Given the description of an element on the screen output the (x, y) to click on. 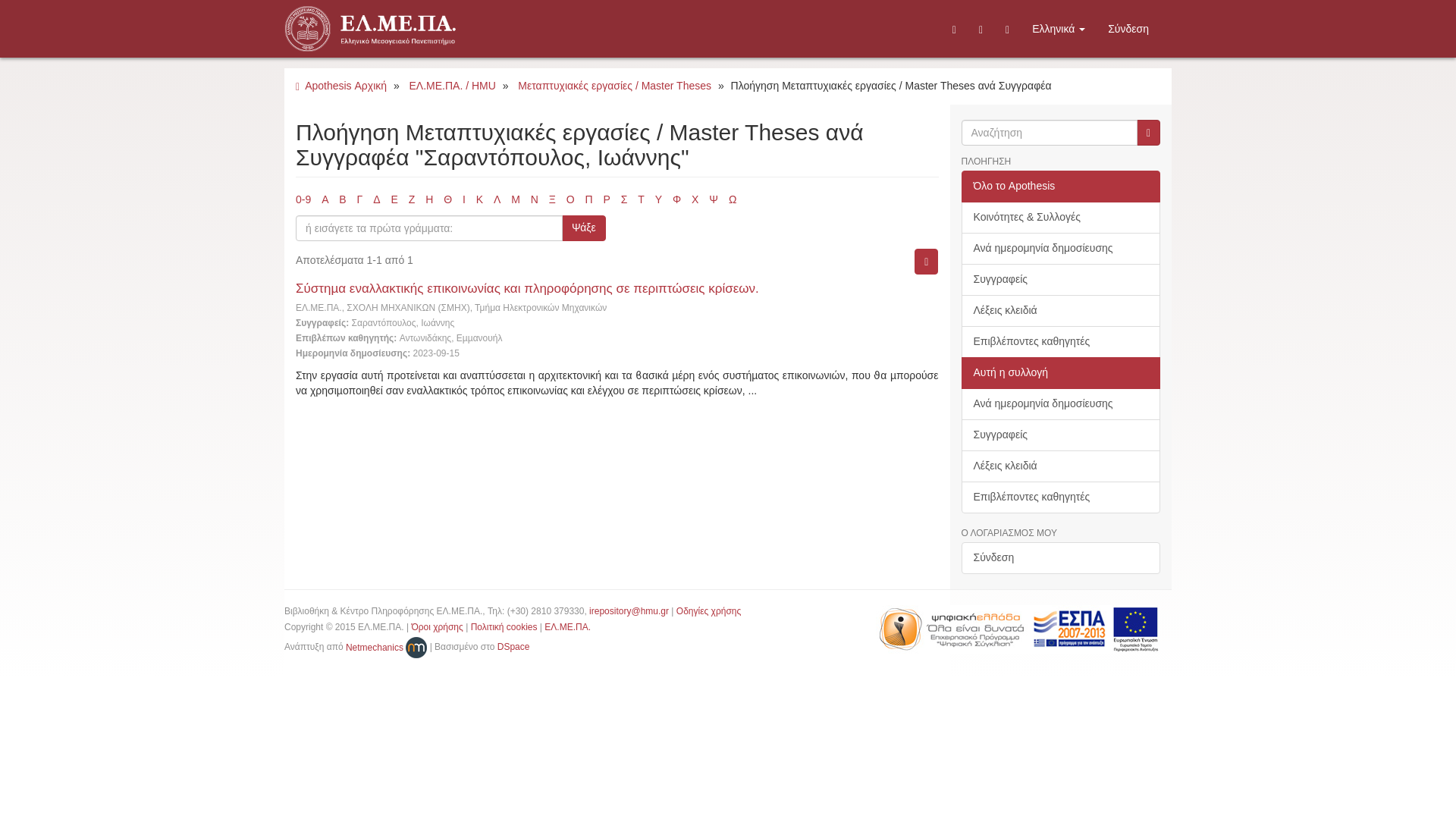
0-9 (303, 199)
netmechanics (386, 647)
